Given the description of an element on the screen output the (x, y) to click on. 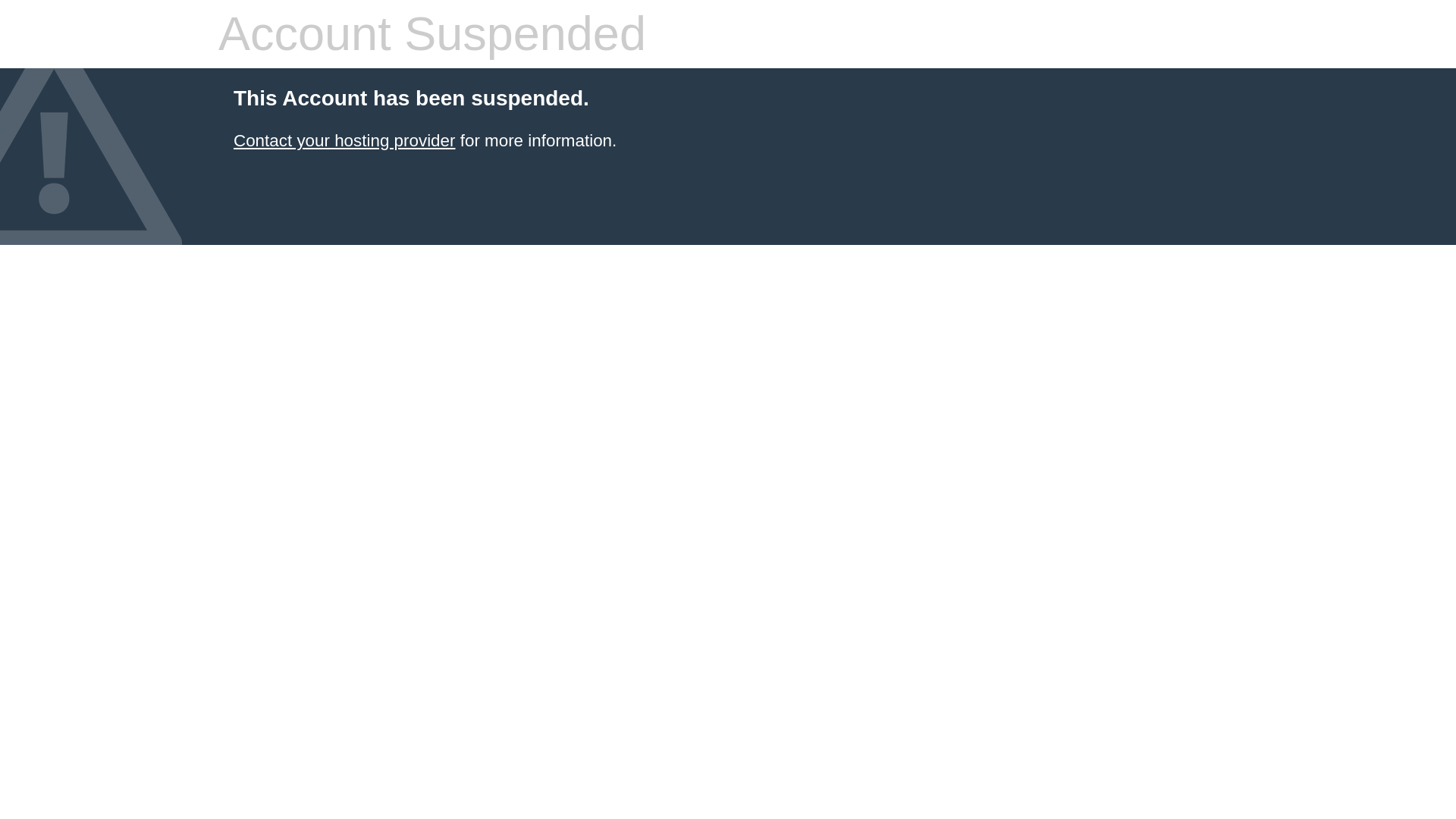
Contact your hosting provider (343, 140)
